Given the description of an element on the screen output the (x, y) to click on. 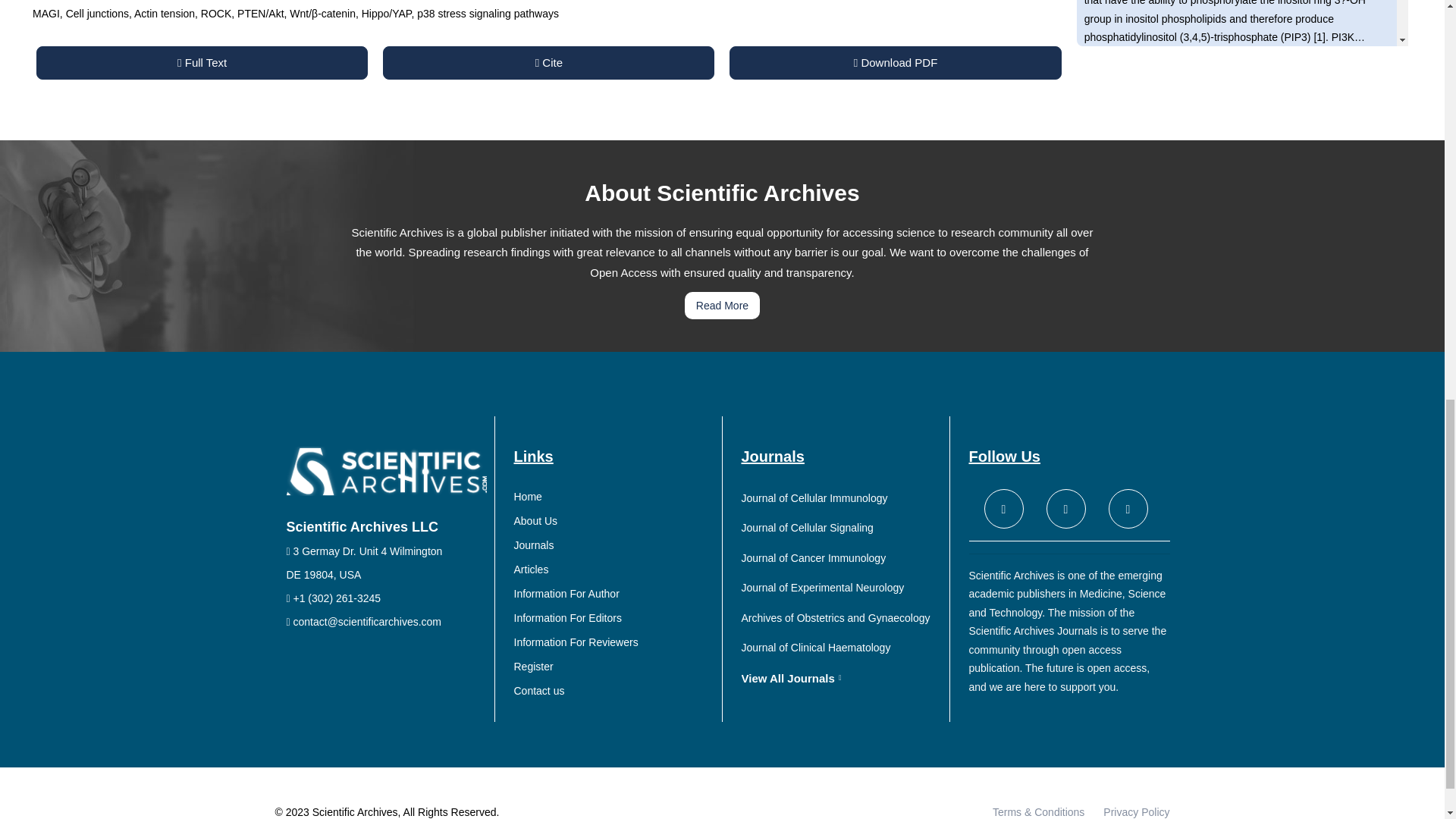
Author Guidelines (613, 593)
About Us (613, 521)
Articles (613, 569)
Contact us (613, 691)
Register (613, 666)
Reviewers Guidelines (613, 642)
Journals (613, 545)
Editor Guidelines (613, 618)
Home (613, 496)
